Given the description of an element on the screen output the (x, y) to click on. 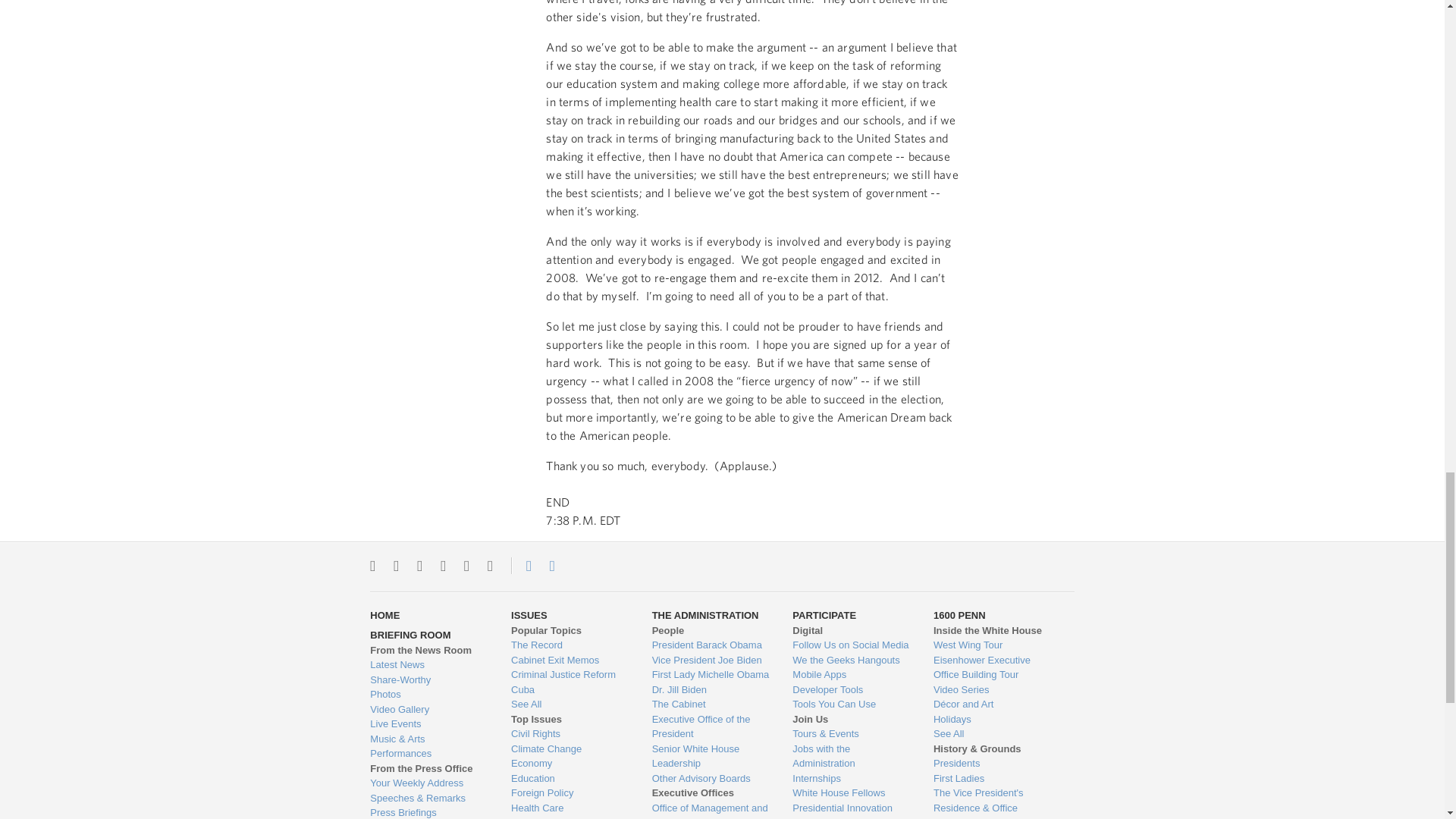
Contact the Whitehouse. (521, 565)
Like the Whitehouse on Facebook. (419, 565)
Email the Whitehouse. (552, 565)
Follow the Whitehouse on Twitter. (372, 565)
Check out the most popular infographics and videos (428, 679)
Watch behind-the-scenes videos and more (428, 709)
Read the latest blog posts from 1600 Pennsylvania Ave (428, 664)
See the Whitehouse on Instagram. (395, 565)
More ways to engage with the Whitehouse. (490, 565)
View the photo of the day and other galleries (428, 694)
Visit The Whitehouse Channel on Youtube. (466, 565)
